Given the description of an element on the screen output the (x, y) to click on. 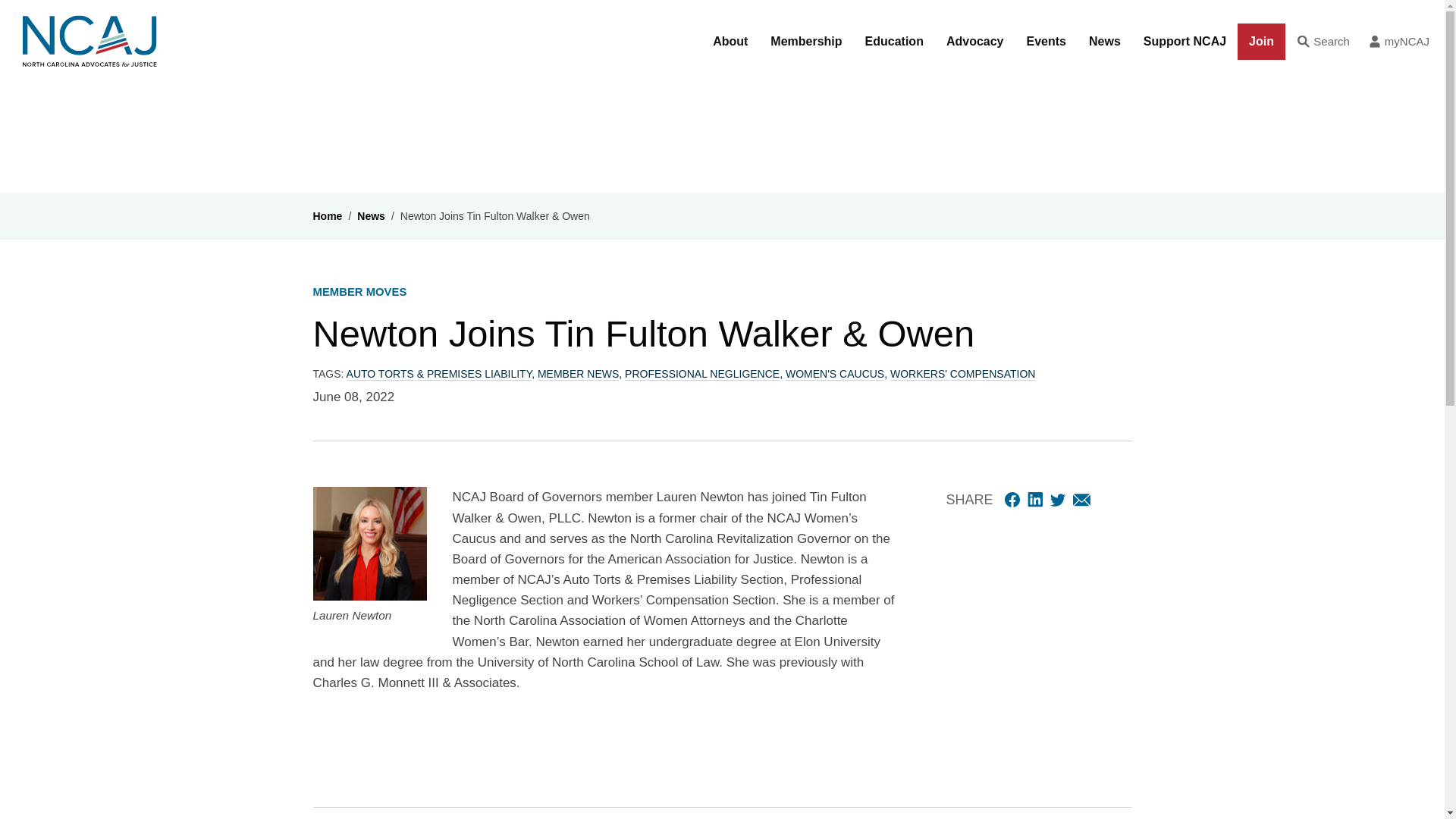
Education (893, 41)
Advocacy (974, 41)
Events (1045, 41)
About (729, 41)
Membership (805, 41)
